Given the description of an element on the screen output the (x, y) to click on. 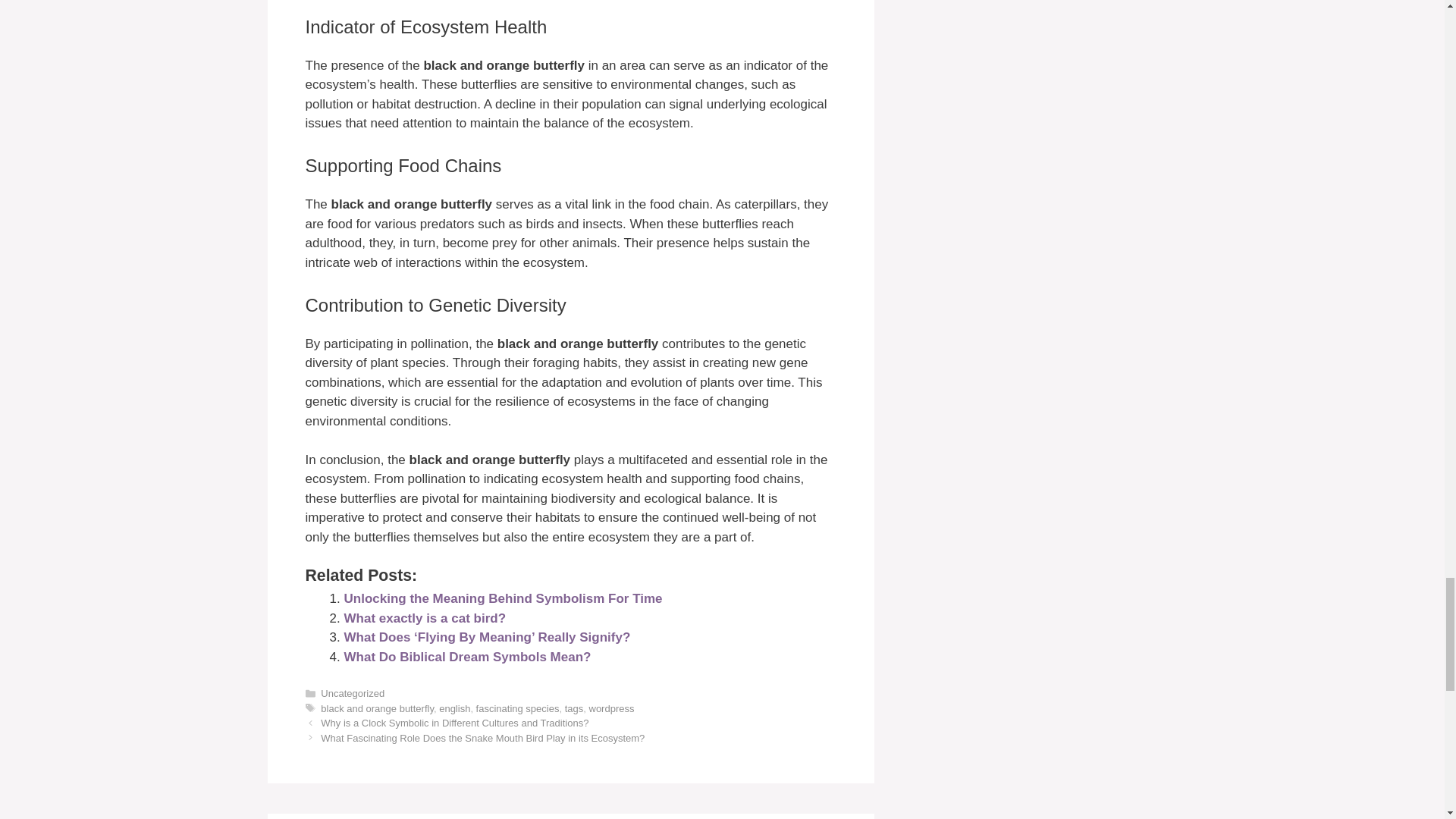
english (454, 708)
What Do Biblical Dream Symbols Mean? (467, 657)
tags (573, 708)
What exactly is a cat bird? (424, 617)
fascinating species (517, 708)
Unlocking the Meaning Behind Symbolism For Time (502, 598)
Uncategorized (352, 693)
black and orange butterfly (376, 708)
